Given the description of an element on the screen output the (x, y) to click on. 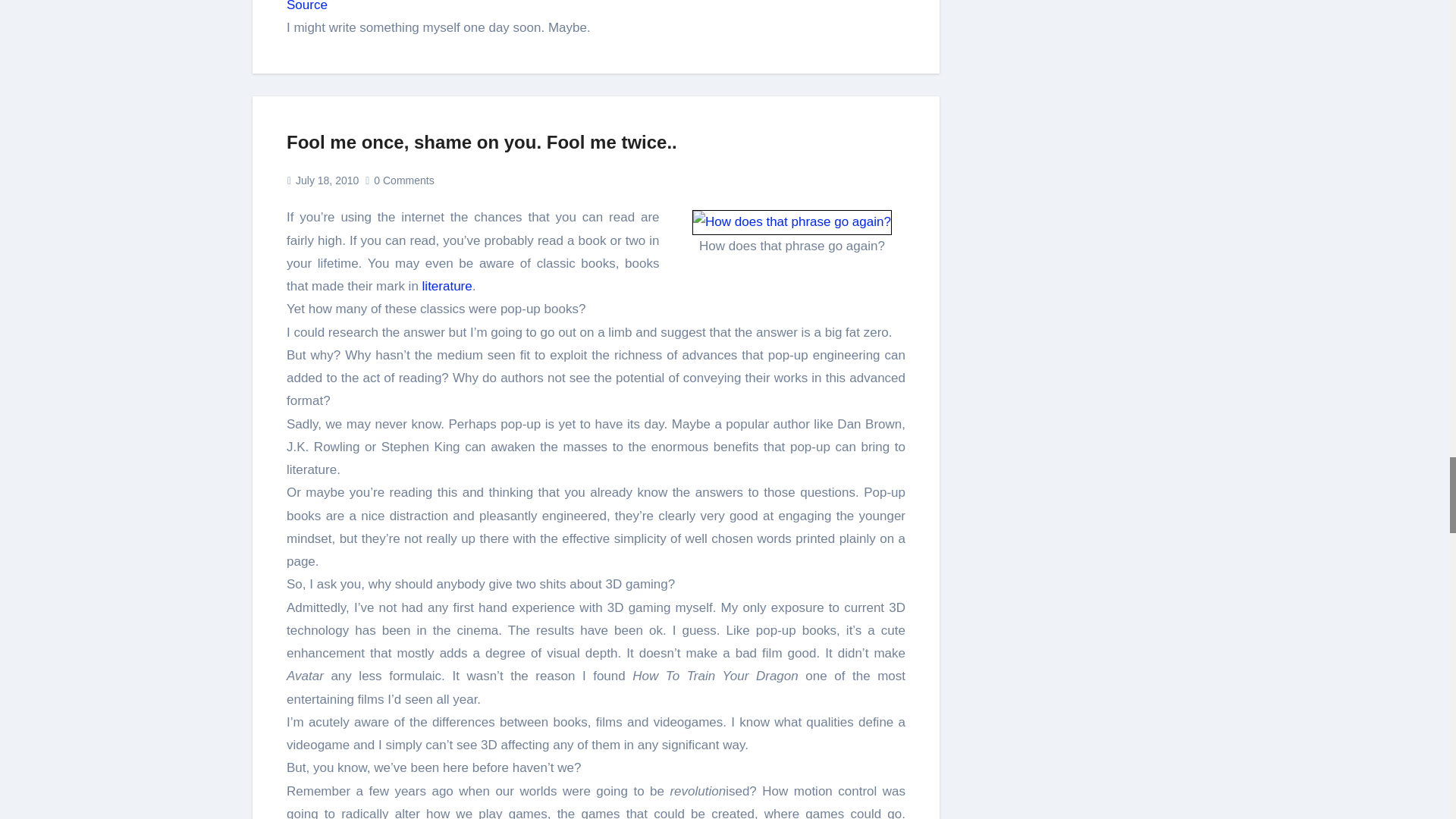
0 Comments (403, 180)
literature (446, 286)
July 18, 2010 (326, 180)
Source (306, 6)
Fool me once, shame on you. Fool me twice.. (481, 141)
